Given the description of an element on the screen output the (x, y) to click on. 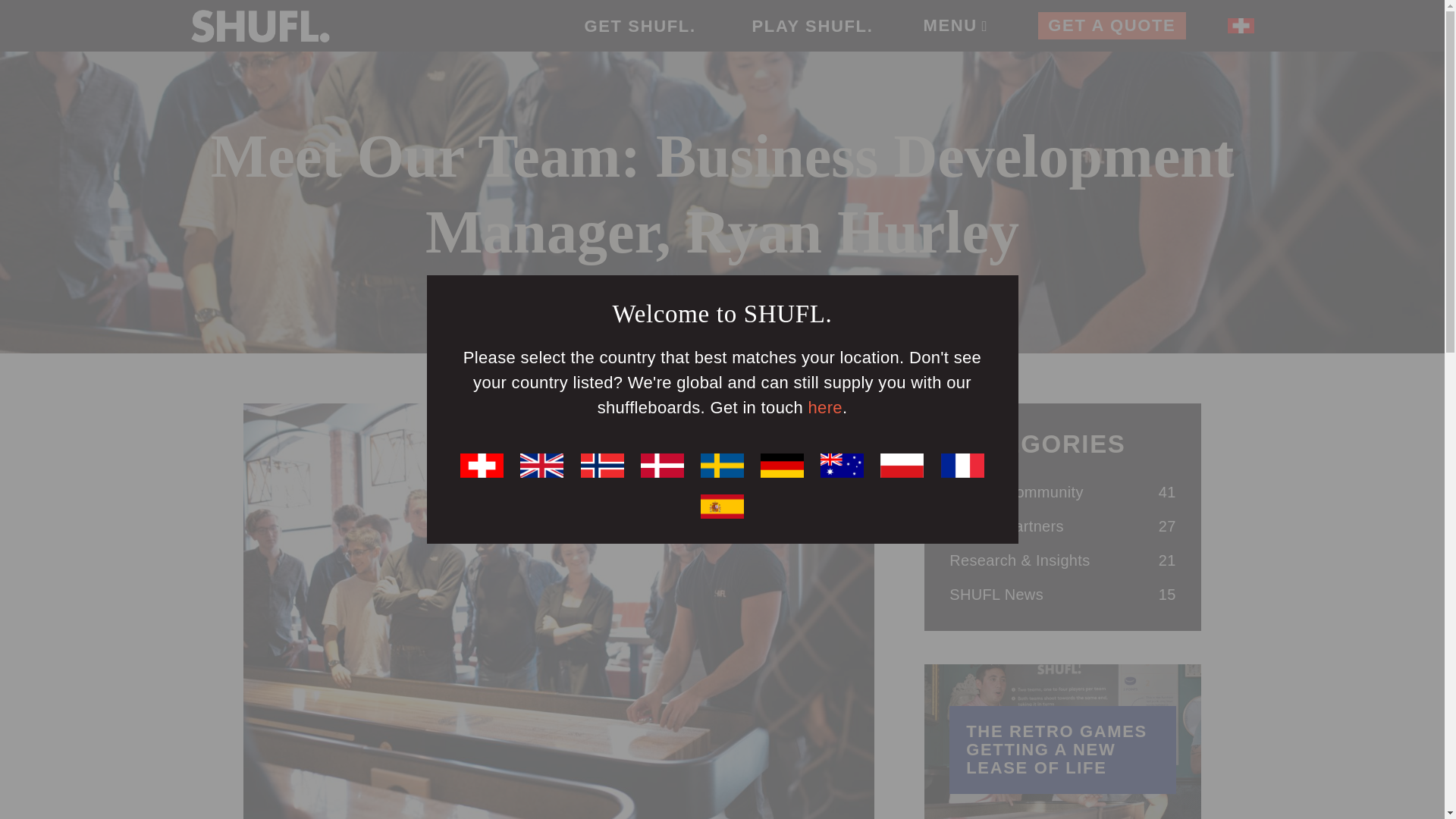
PLAY SHUFL. (811, 26)
GET SHUFL. (639, 26)
